Given the description of an element on the screen output the (x, y) to click on. 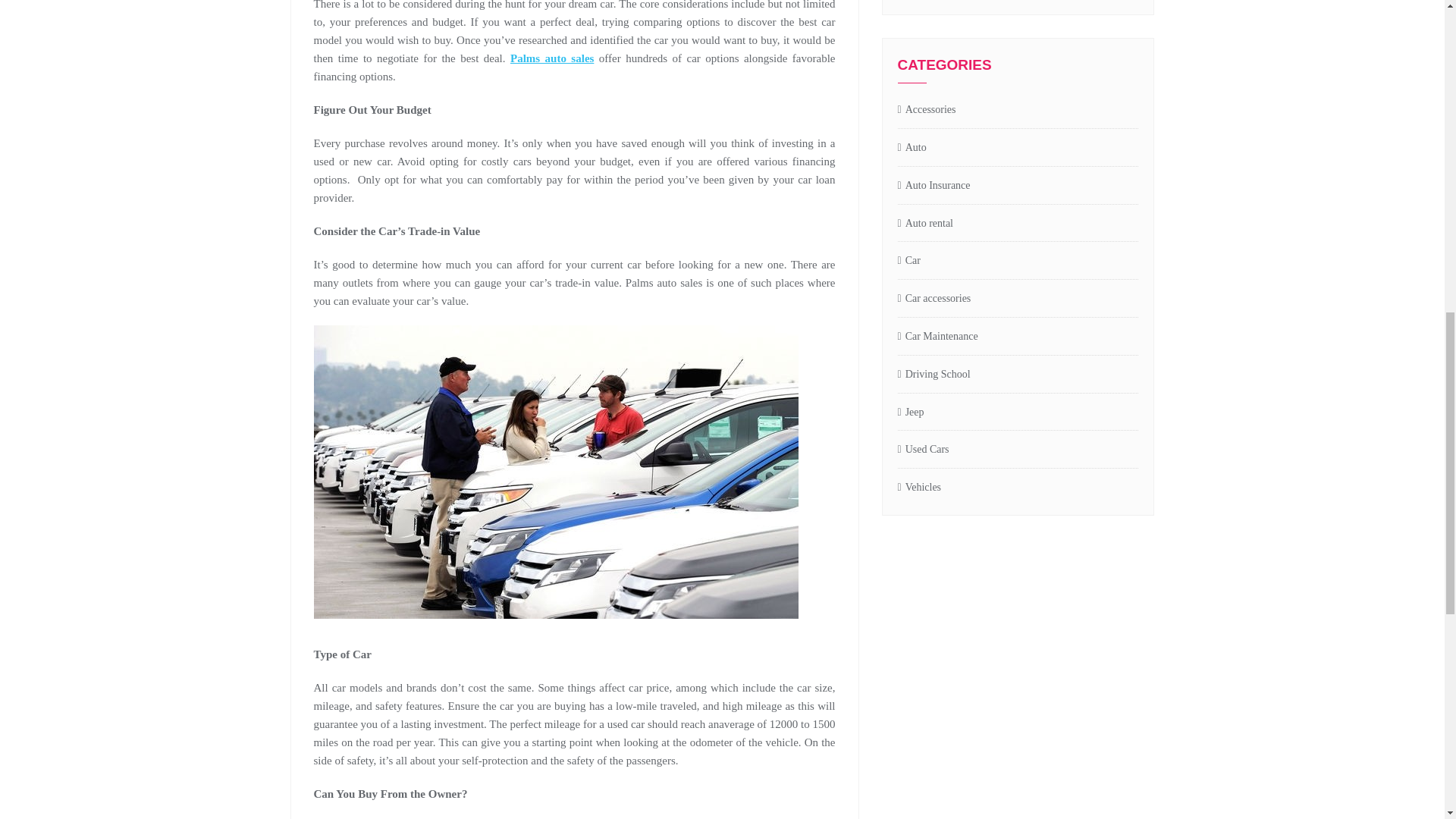
Car Maintenance (938, 336)
Used Cars (923, 449)
Auto (912, 147)
Vehicles (920, 487)
Accessories (927, 110)
Jeep (911, 413)
Car accessories (934, 299)
Auto rental (925, 223)
Auto Insurance (934, 186)
Driving School (934, 374)
Palms auto sales (552, 58)
Car (909, 260)
